Given the description of an element on the screen output the (x, y) to click on. 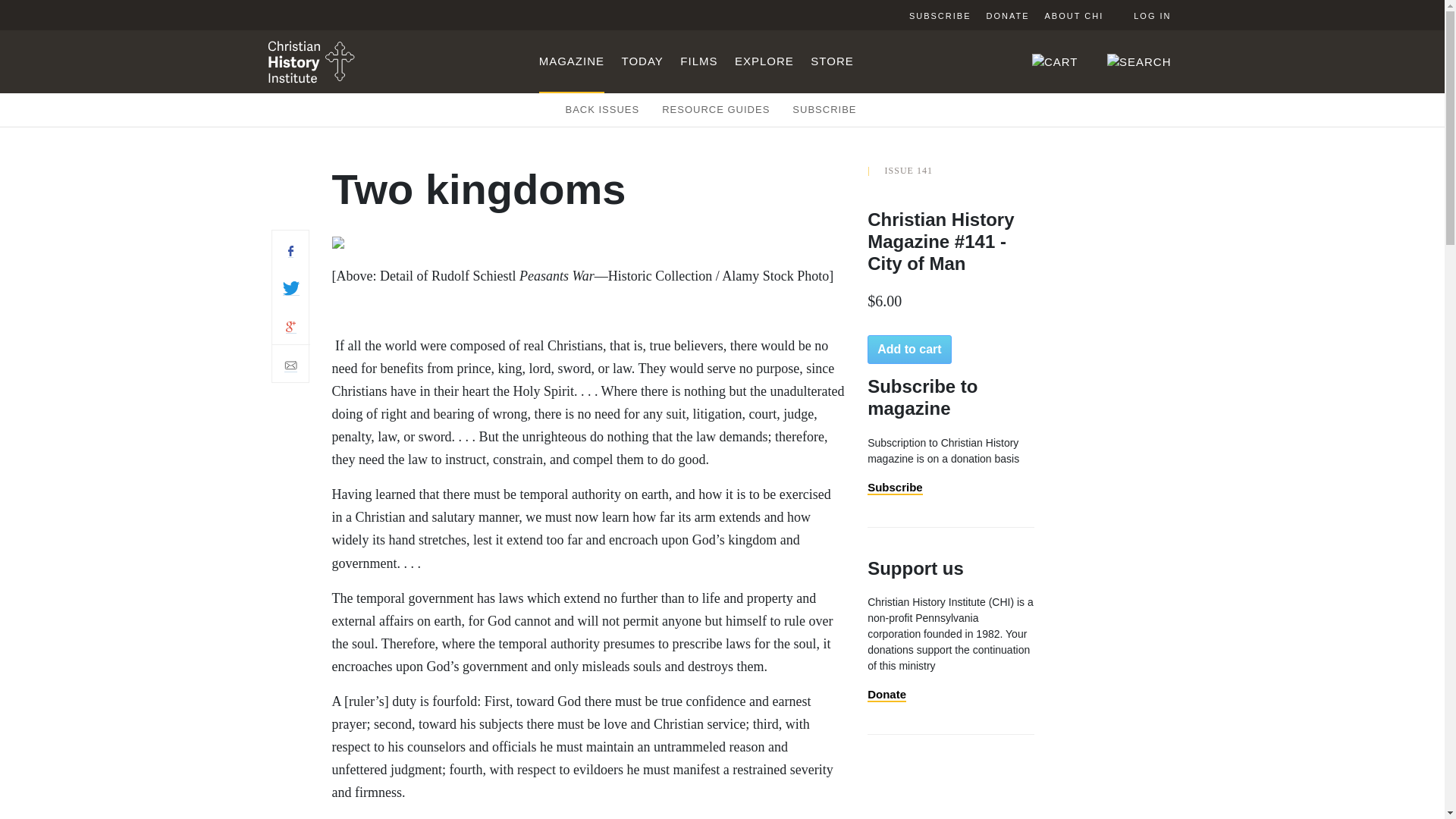
DONATE (1007, 15)
BACK ISSUES (603, 109)
RESOURCE GUIDES (716, 109)
MAGAZINE (571, 61)
Add to cart (908, 348)
ABOUT CHI (1074, 15)
EXPLORE (764, 61)
SUBSCRIBE (824, 109)
LOG IN (1140, 15)
